Given the description of an element on the screen output the (x, y) to click on. 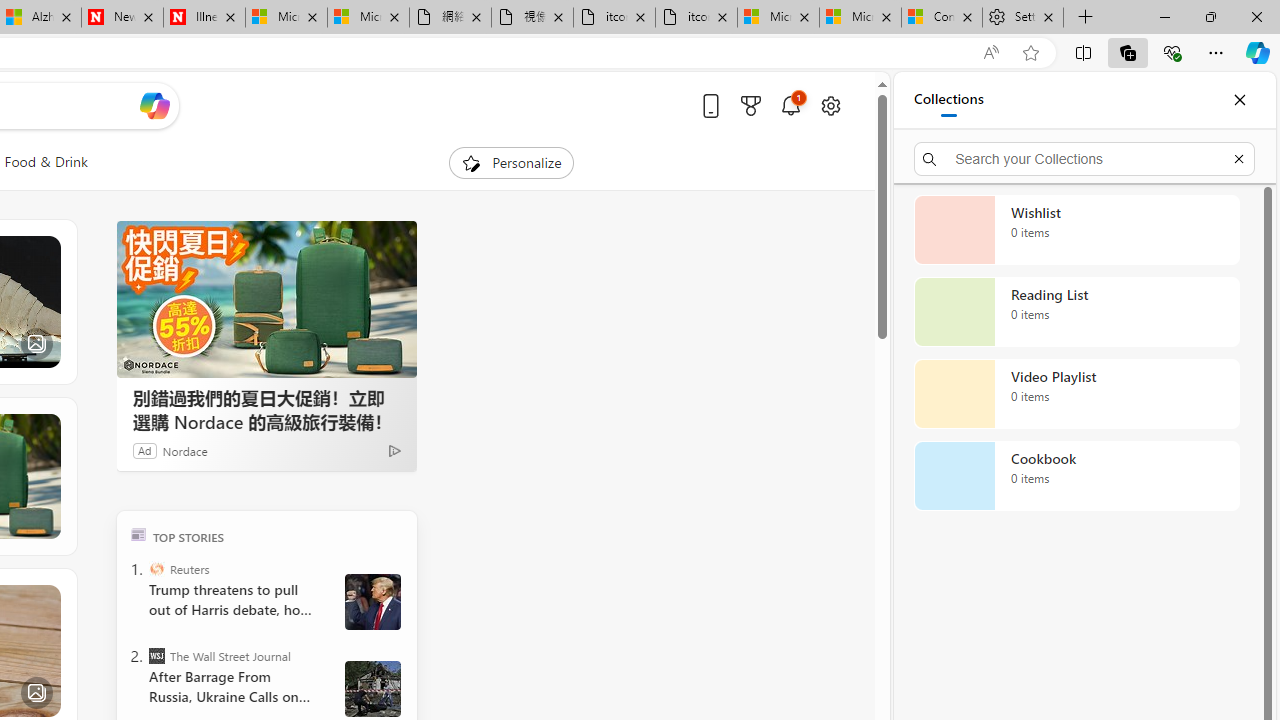
The Wall Street Journal (156, 655)
